Given the description of an element on the screen output the (x, y) to click on. 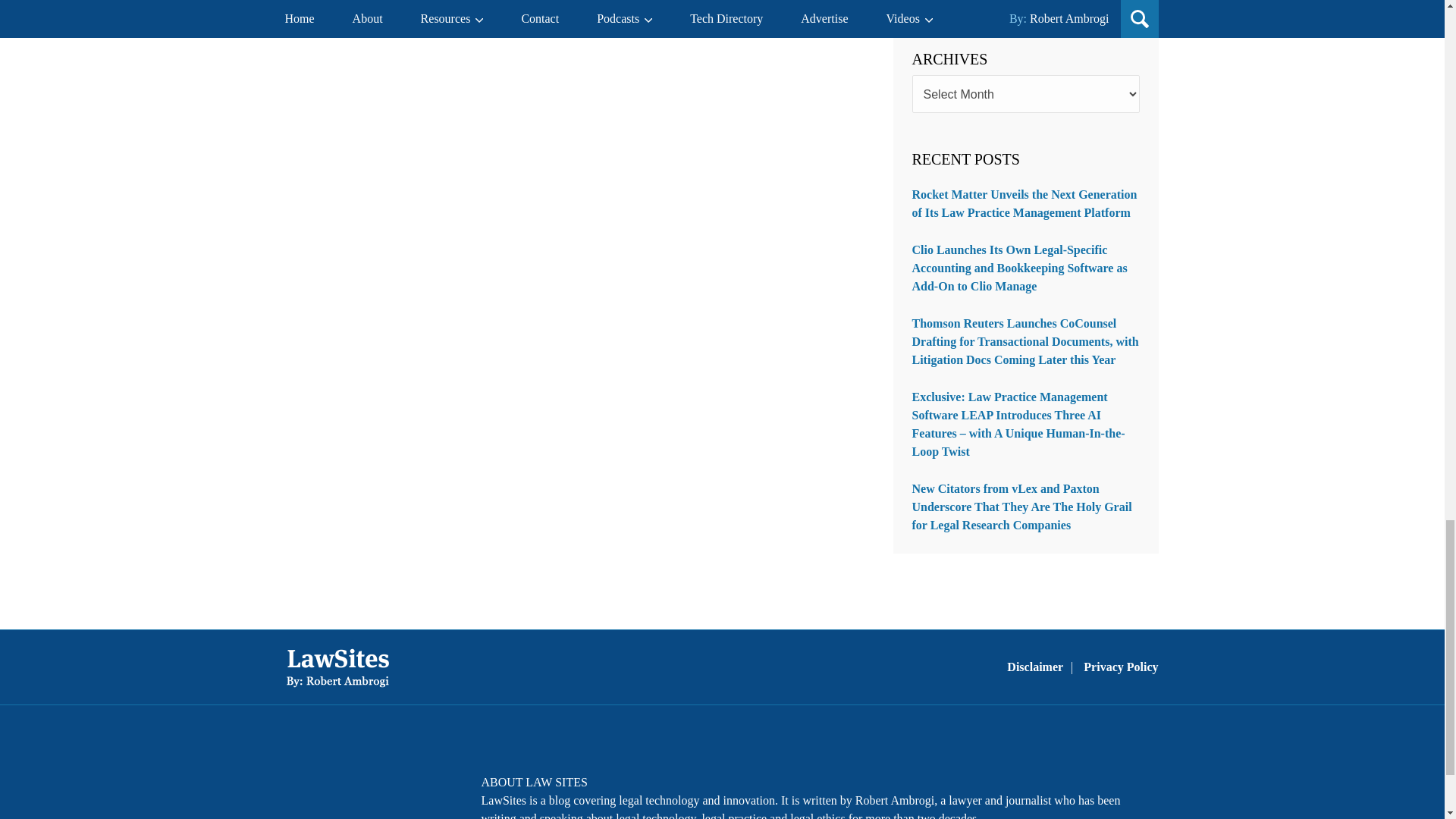
Feed (424, 791)
Twitter (344, 791)
Facebook (304, 791)
LinkedIn (384, 791)
